Given the description of an element on the screen output the (x, y) to click on. 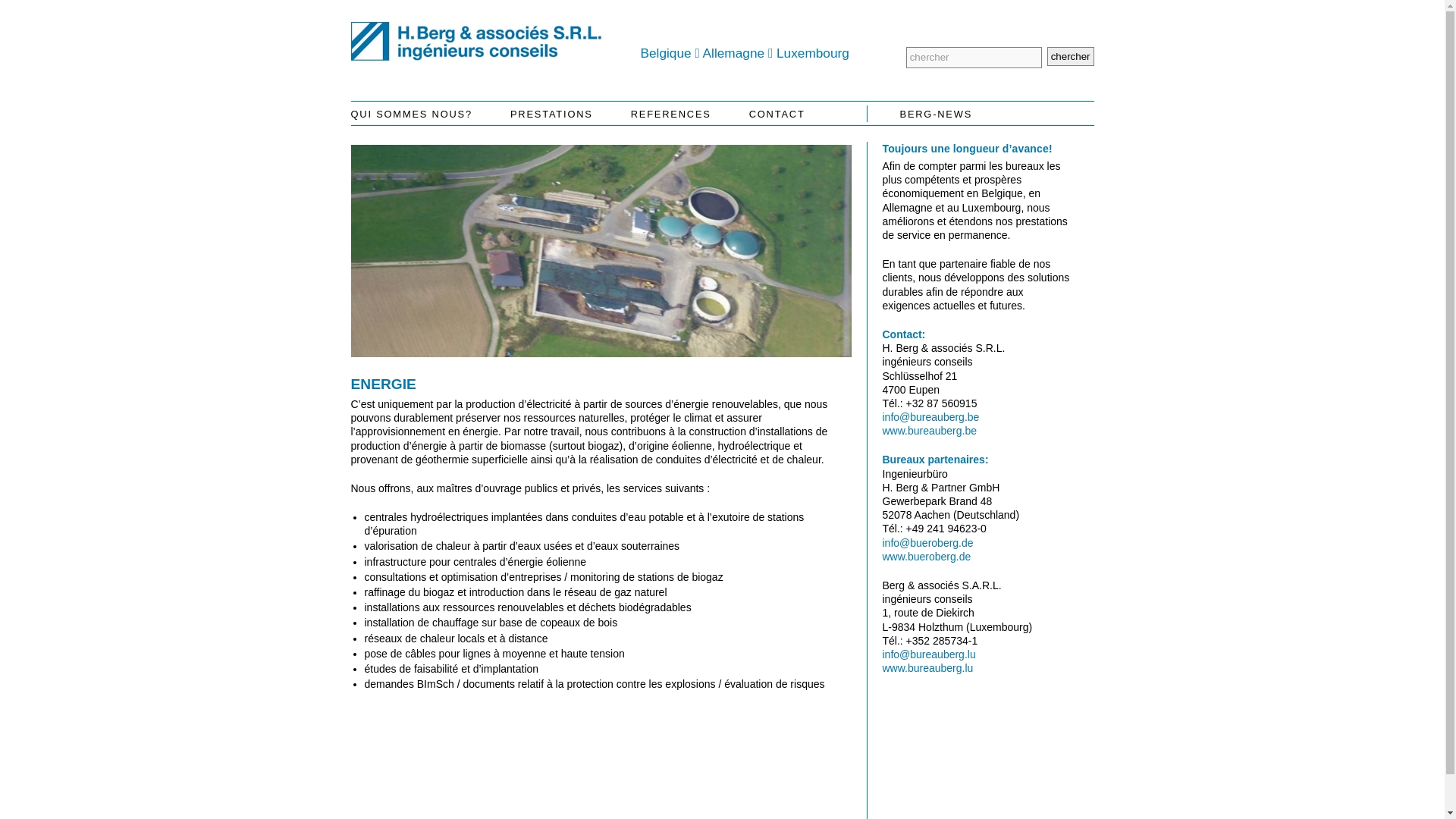
www.bureauberg.lu Element type: text (927, 668)
info@bureauberg.lu Element type: text (928, 654)
PRESTATIONS Element type: text (551, 114)
info@bueroberg.de Element type: text (927, 542)
REFERENCES Element type: text (670, 114)
QUI SOMMES NOUS? Element type: text (420, 114)
CONTACT Element type: text (777, 114)
www.bueroberg.de Element type: text (926, 556)
chercher Element type: text (1070, 56)
www.bureauberg.be Element type: text (929, 430)
info@bureauberg.be Element type: text (930, 417)
BERG-NEWS Element type: text (987, 114)
Allemagne Element type: text (733, 52)
Belgique Element type: text (665, 52)
Luxembourg Element type: text (812, 52)
